Given the description of an element on the screen output the (x, y) to click on. 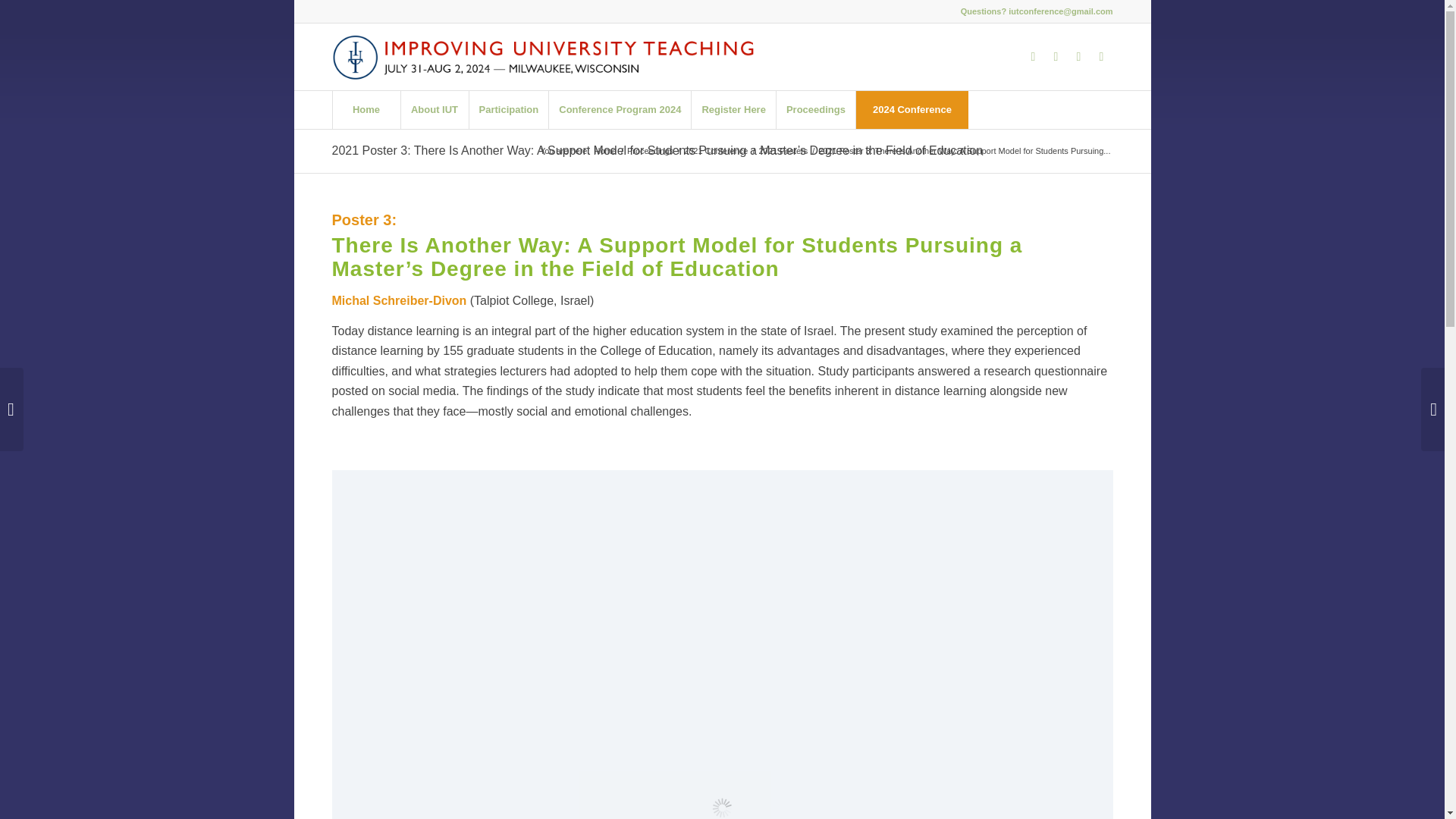
Home (365, 109)
About IUT (434, 109)
Participation (508, 109)
Register Here (733, 109)
Improving University Teaching (605, 151)
Conference Program 2024 (619, 109)
Proceedings (816, 109)
Proceedings (649, 151)
iut-type-banner-vector-object-resizable-milwaukee (548, 56)
